Given the description of an element on the screen output the (x, y) to click on. 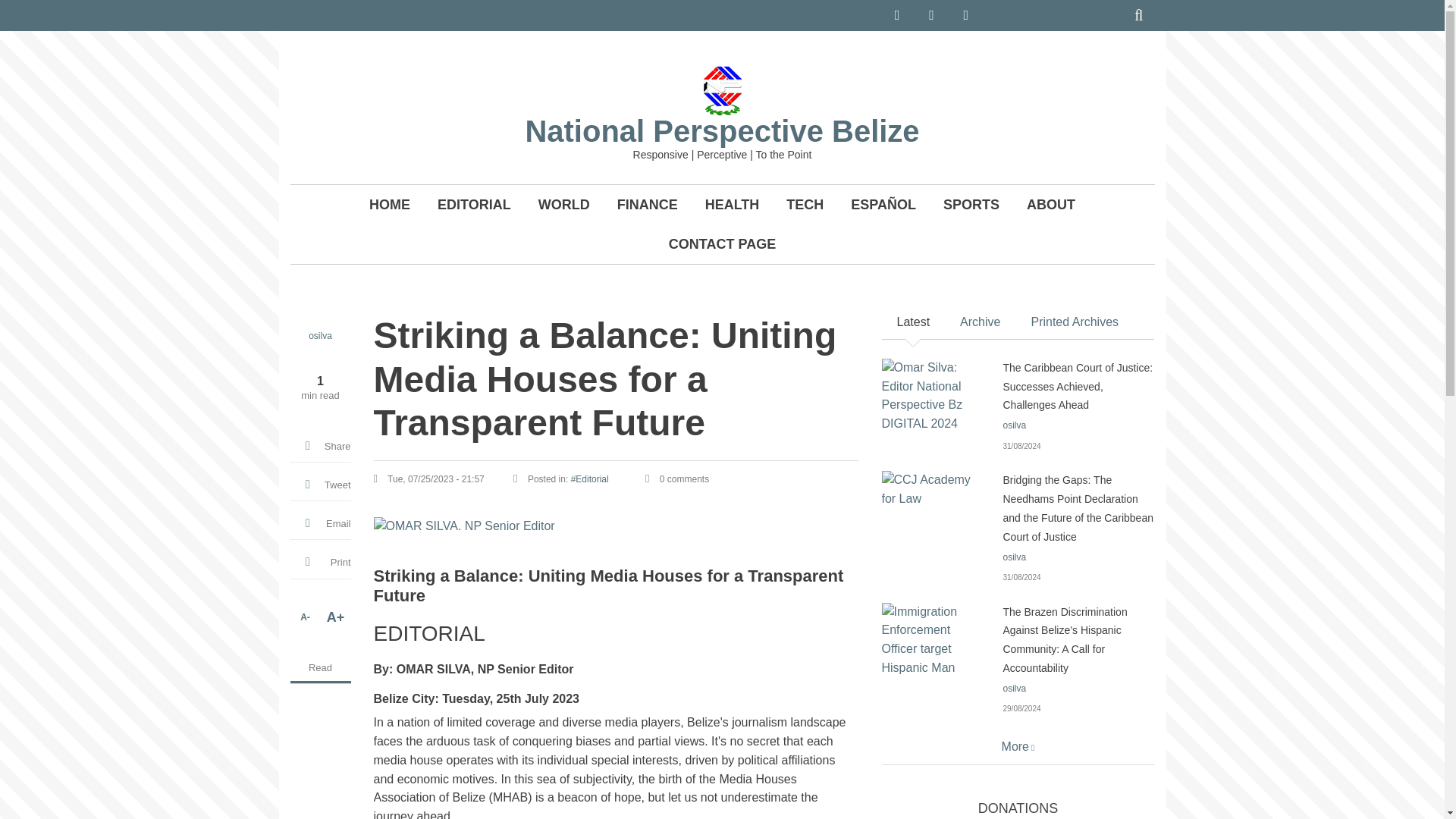
View user profile. (1014, 557)
View user profile. (319, 335)
View user profile. (1014, 688)
Special Contact page (722, 243)
About (1051, 204)
Home (722, 89)
